Given the description of an element on the screen output the (x, y) to click on. 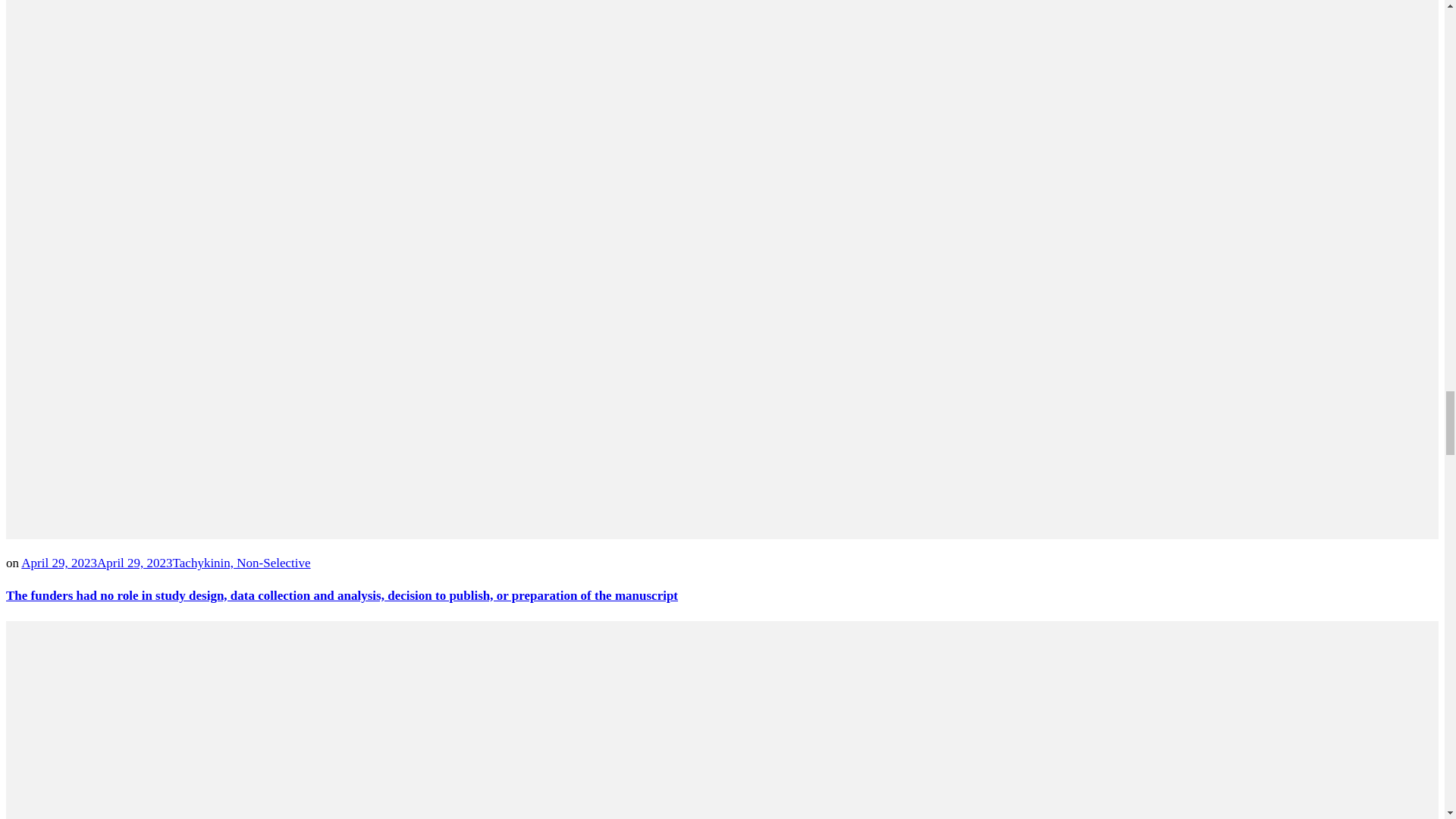
April 29, 2023April 29, 2023 (96, 563)
Tachykinin, Non-Selective (242, 563)
